Given the description of an element on the screen output the (x, y) to click on. 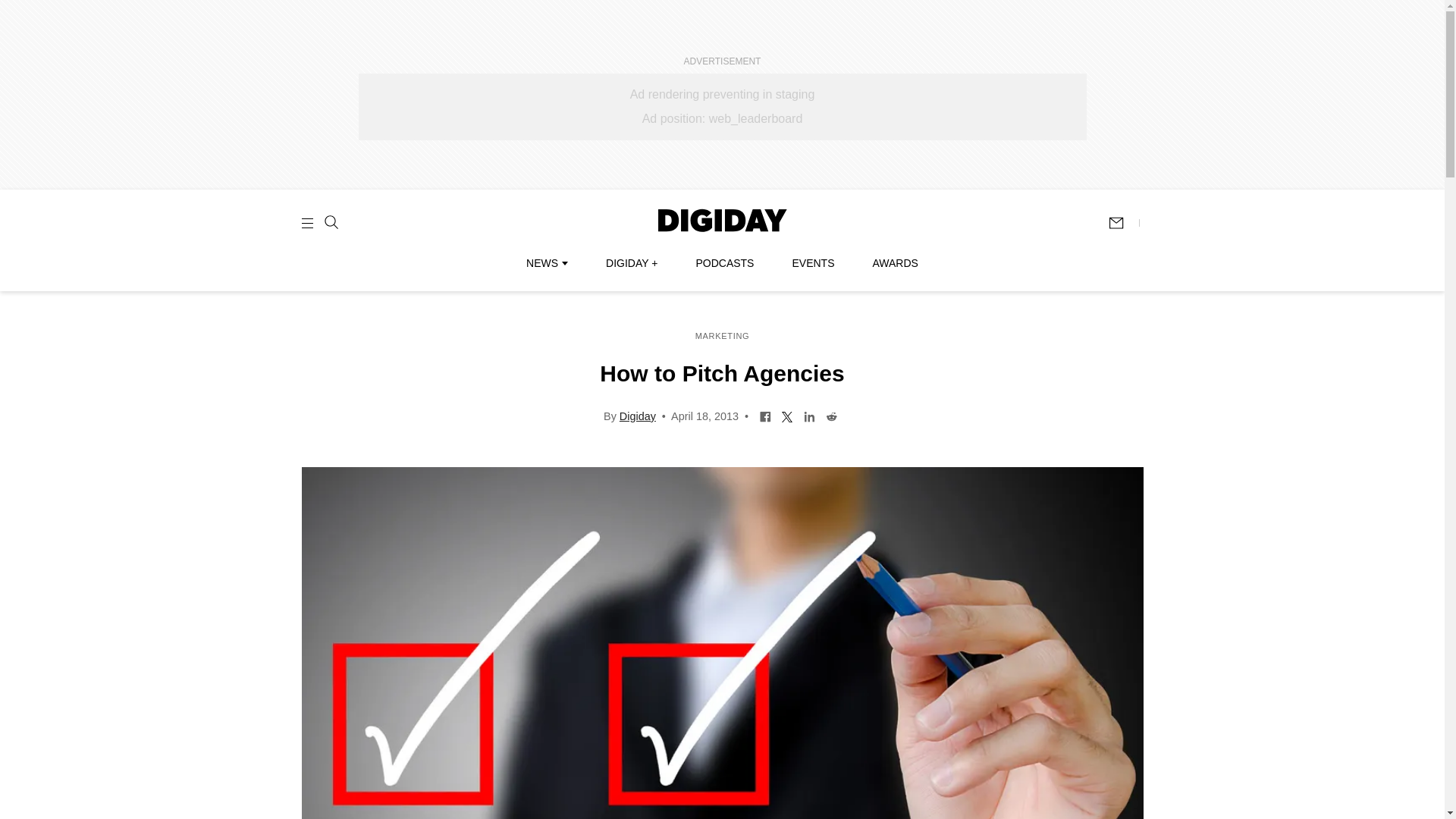
Share on Twitter (786, 415)
Share on Facebook (764, 415)
EVENTS (813, 262)
Share on LinkedIn (809, 415)
Subscribe (1123, 223)
NEWS (546, 262)
PODCASTS (725, 262)
Share on Reddit (831, 415)
AWARDS (894, 262)
